Given the description of an element on the screen output the (x, y) to click on. 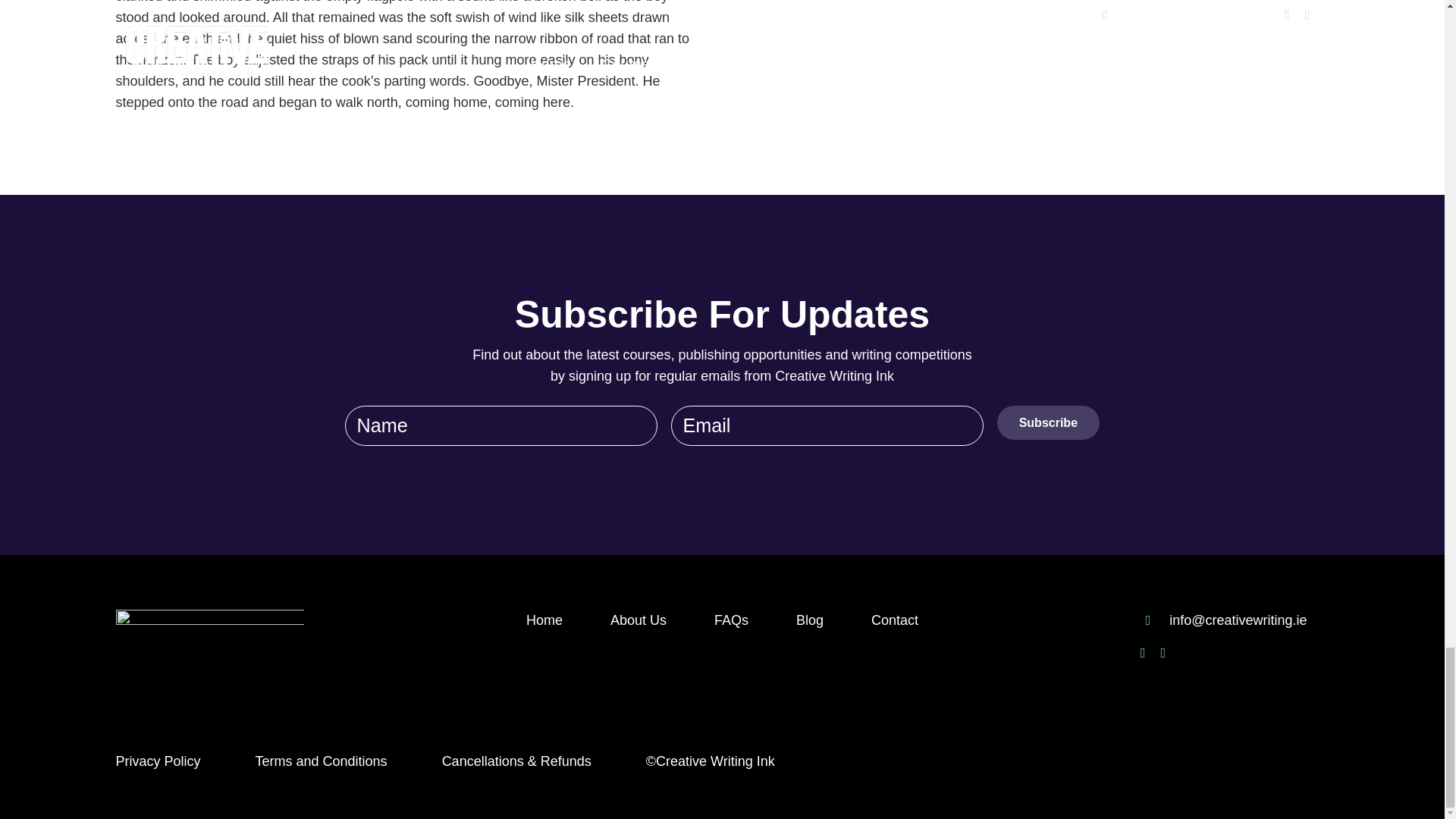
Home (543, 620)
Contact (894, 620)
Subscribe (1048, 422)
Twitter (1163, 653)
FAQs (731, 620)
Blog (810, 620)
Facebook (1142, 653)
About Us (638, 620)
